Given the description of an element on the screen output the (x, y) to click on. 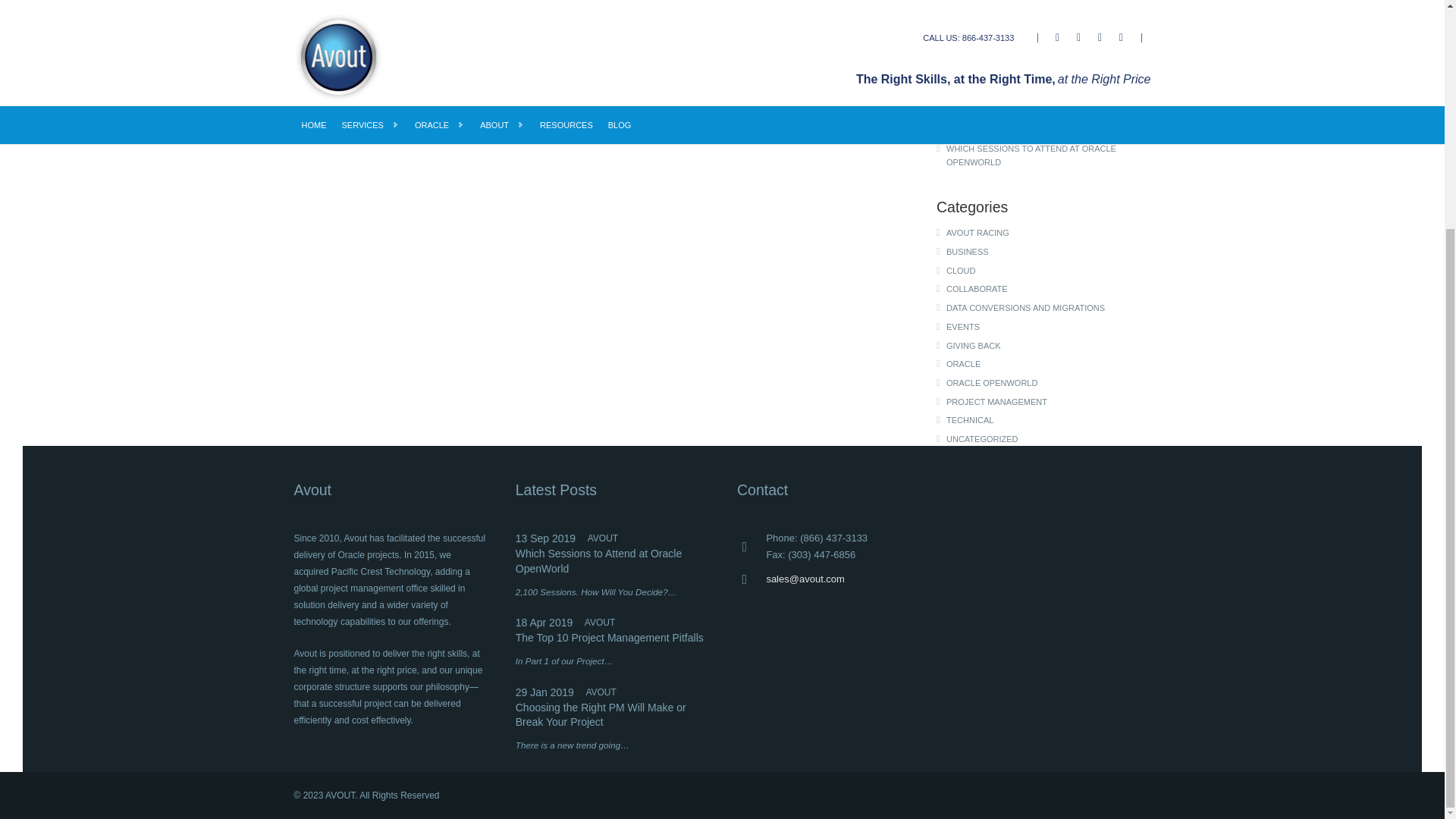
BUSINESS (1048, 251)
Sign her up (802, 94)
WHICH SESSIONS TO ATTEND AT ORACLE OPENWORLD (1048, 154)
OCTOBER 11-12: A WEEKEND OF GALA EVENTS (1048, 129)
ORACLE FUSION UPDATES, UPGRADES, AND OCI MIGRATION (1048, 71)
AVOUT RACING (1048, 232)
ORACLE 11I TO R12: UPGRADE OR RE-IMPLEMENTATION? (1048, 103)
